Given the description of an element on the screen output the (x, y) to click on. 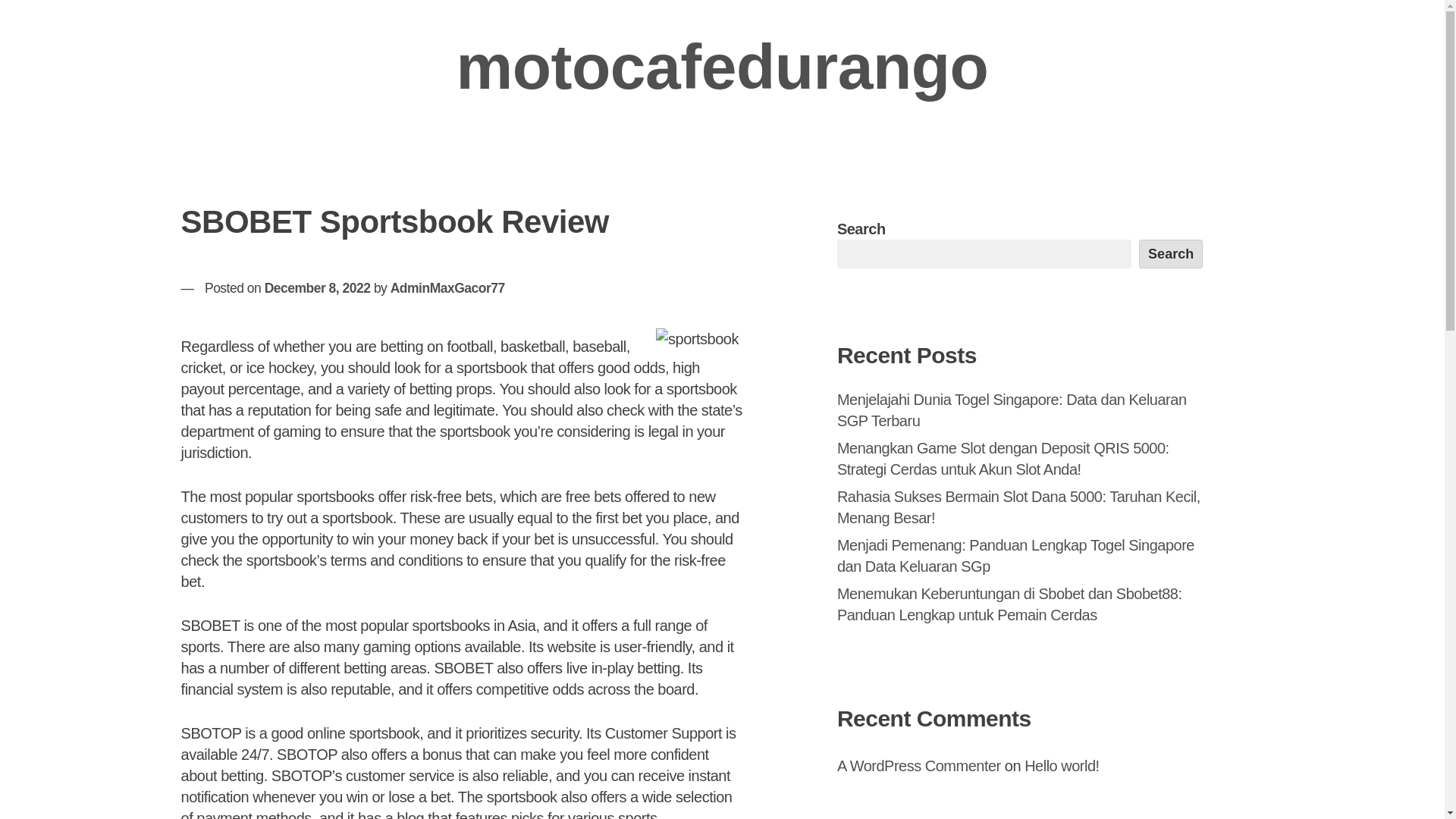
A WordPress Commenter (919, 765)
AdminMaxGacor77 (447, 287)
motocafedurango (722, 66)
Hello world! (1062, 765)
December 8, 2022 (317, 287)
Search (1171, 253)
